Given the description of an element on the screen output the (x, y) to click on. 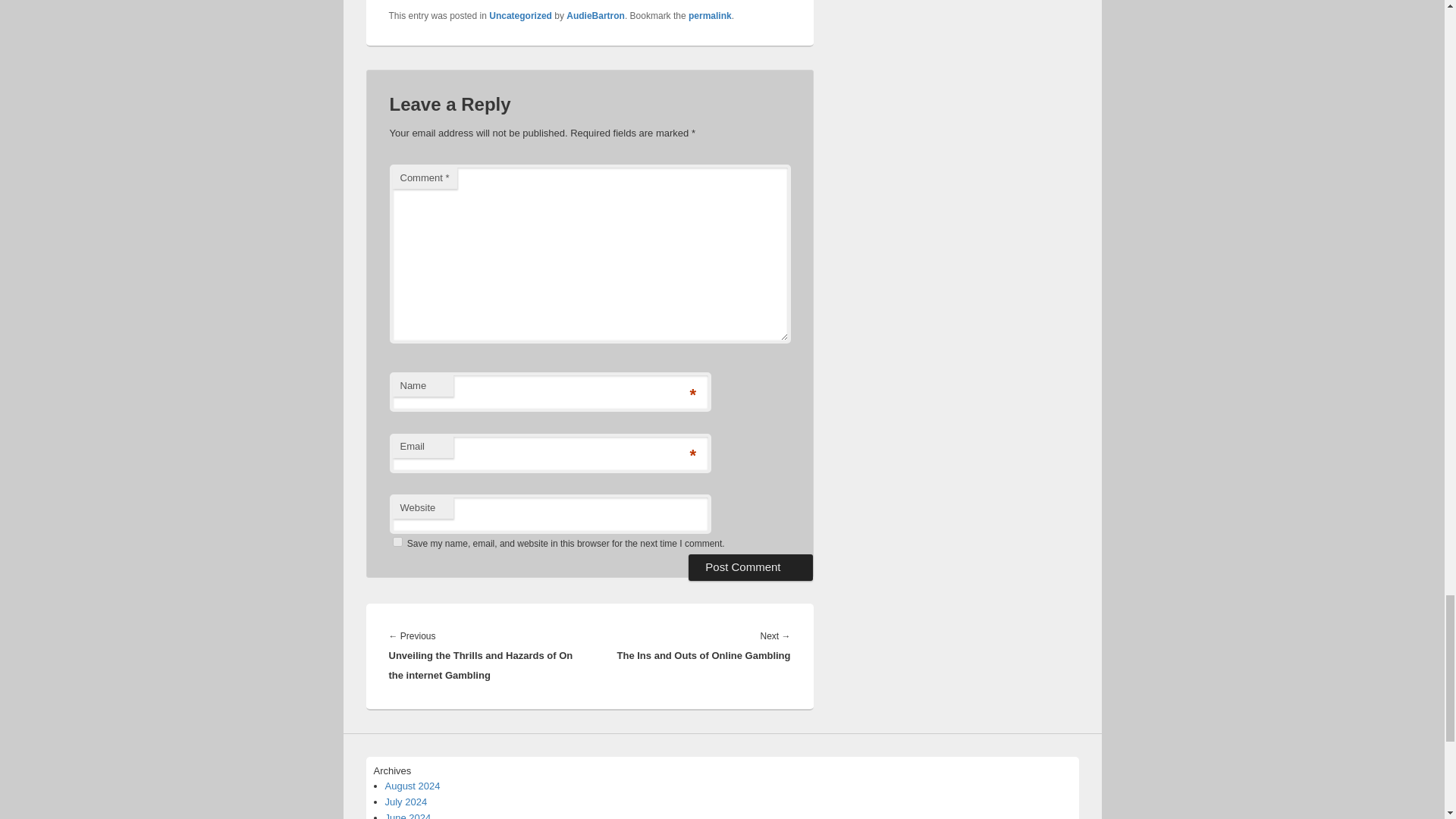
Post Comment (750, 566)
permalink (710, 15)
yes (398, 542)
Uncategorized (520, 15)
AudieBartron (595, 15)
Post Comment (750, 566)
